Given the description of an element on the screen output the (x, y) to click on. 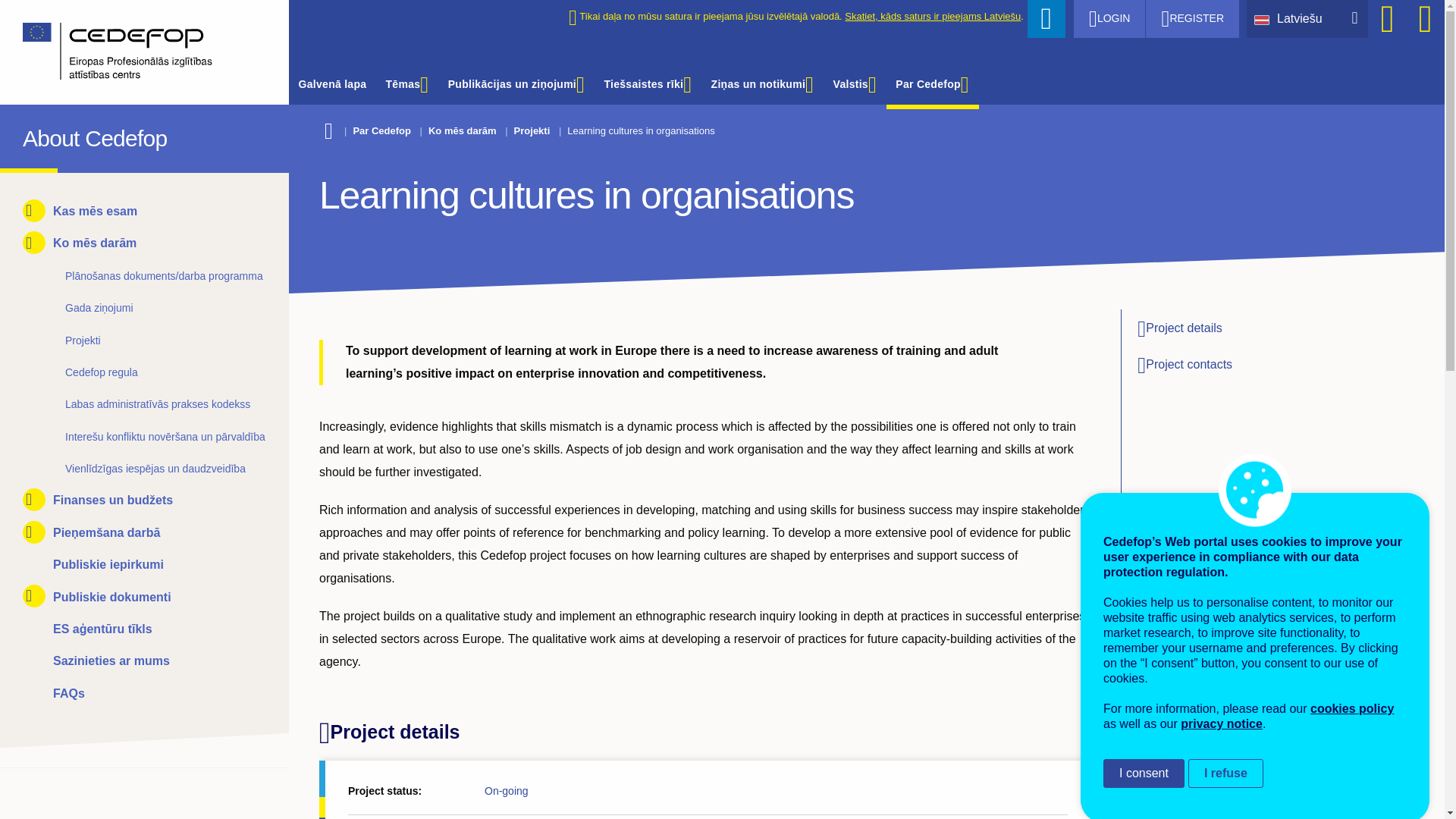
Apply (1046, 18)
Latvian (1265, 18)
Home (133, 52)
Home (37, 135)
CEDEFOP (37, 135)
